Given the description of an element on the screen output the (x, y) to click on. 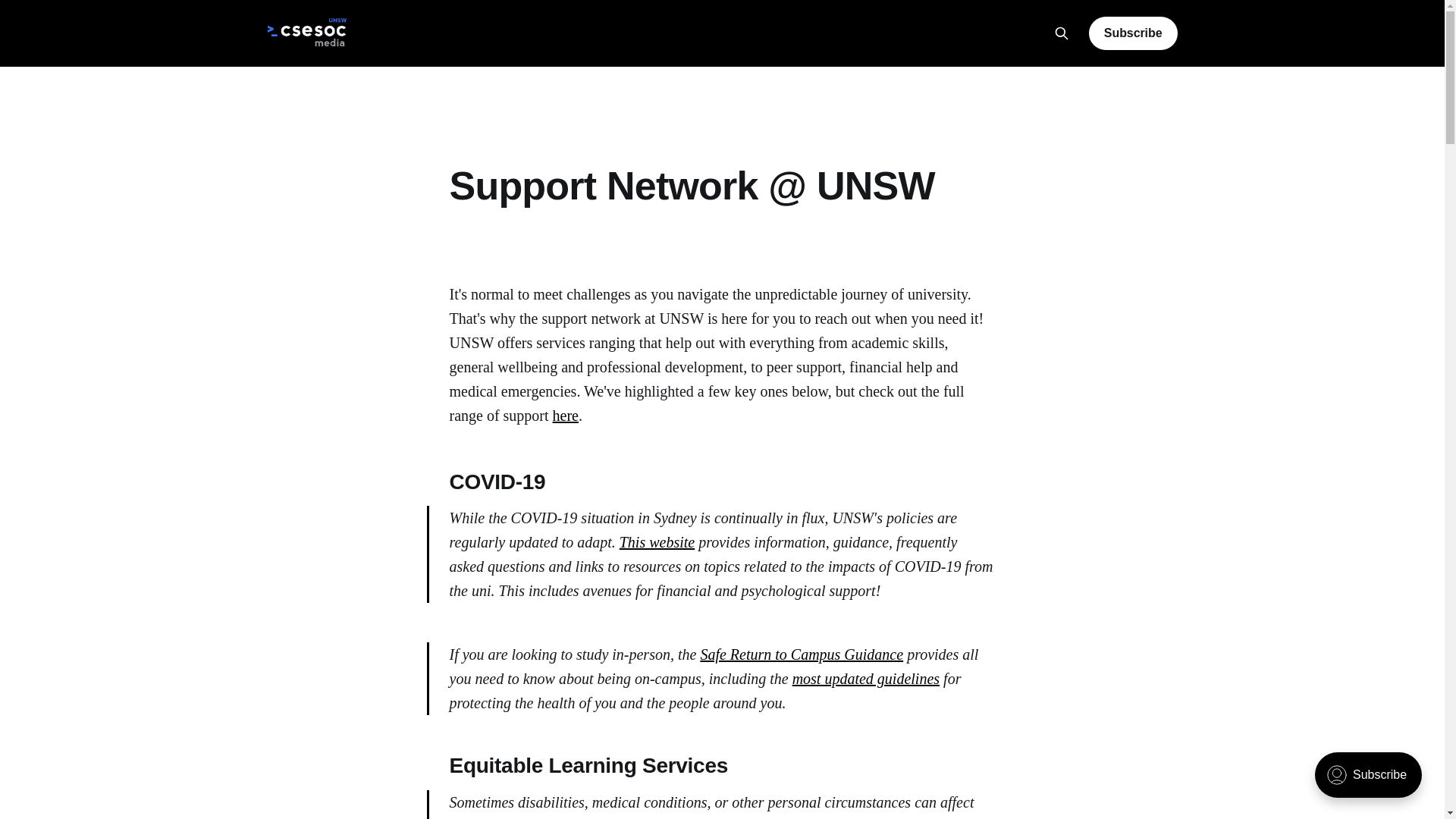
Safe Return to Campus Guidance Element type: text (801, 654)
most updated guidelines Element type: text (865, 678)
here Element type: text (565, 415)
This website Element type: text (656, 541)
Subscribe Element type: text (1132, 33)
